Given the description of an element on the screen output the (x, y) to click on. 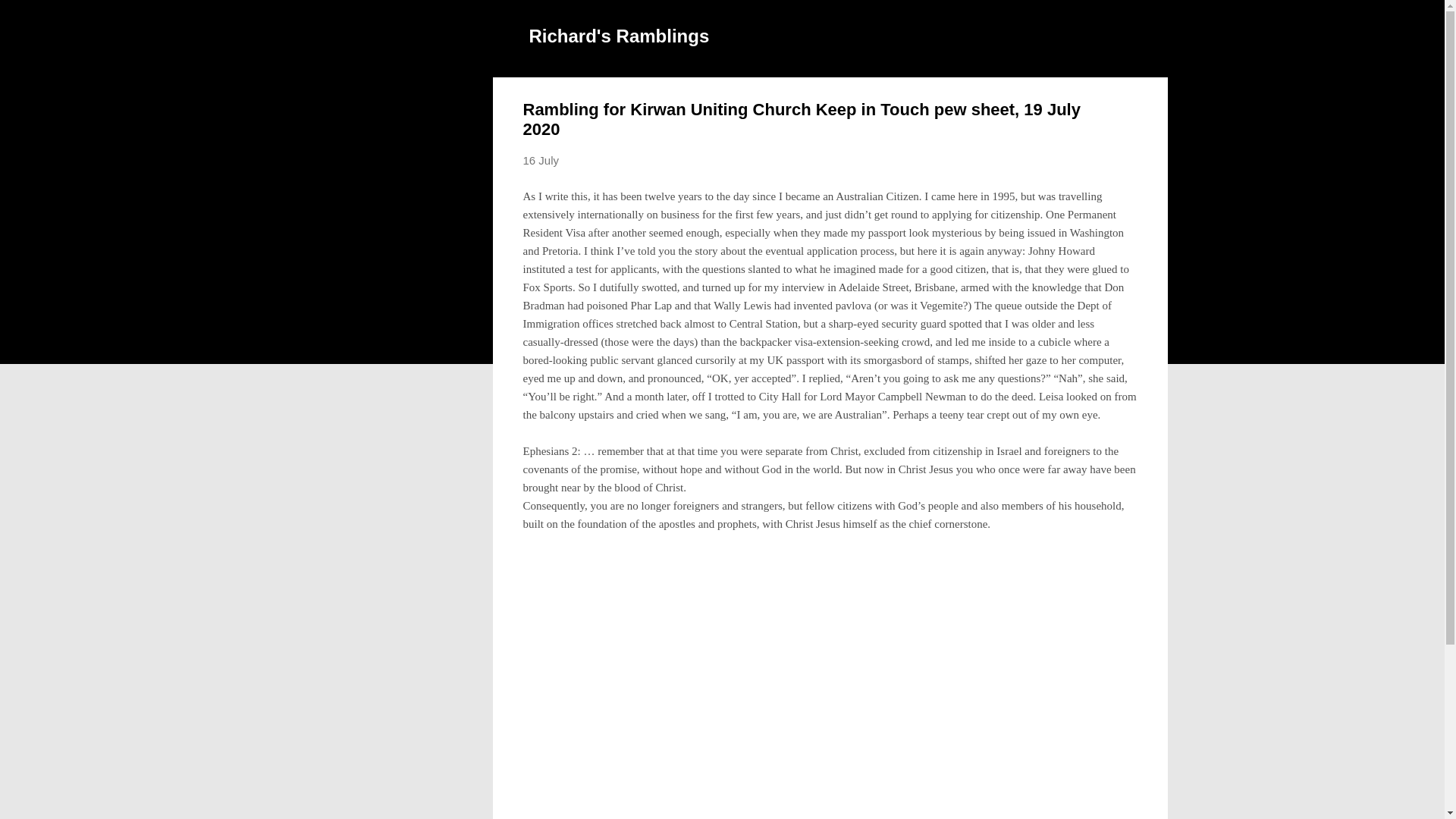
Search (29, 18)
Richard's Ramblings (619, 35)
permanent link (540, 160)
16 July (540, 160)
